Given the description of an element on the screen output the (x, y) to click on. 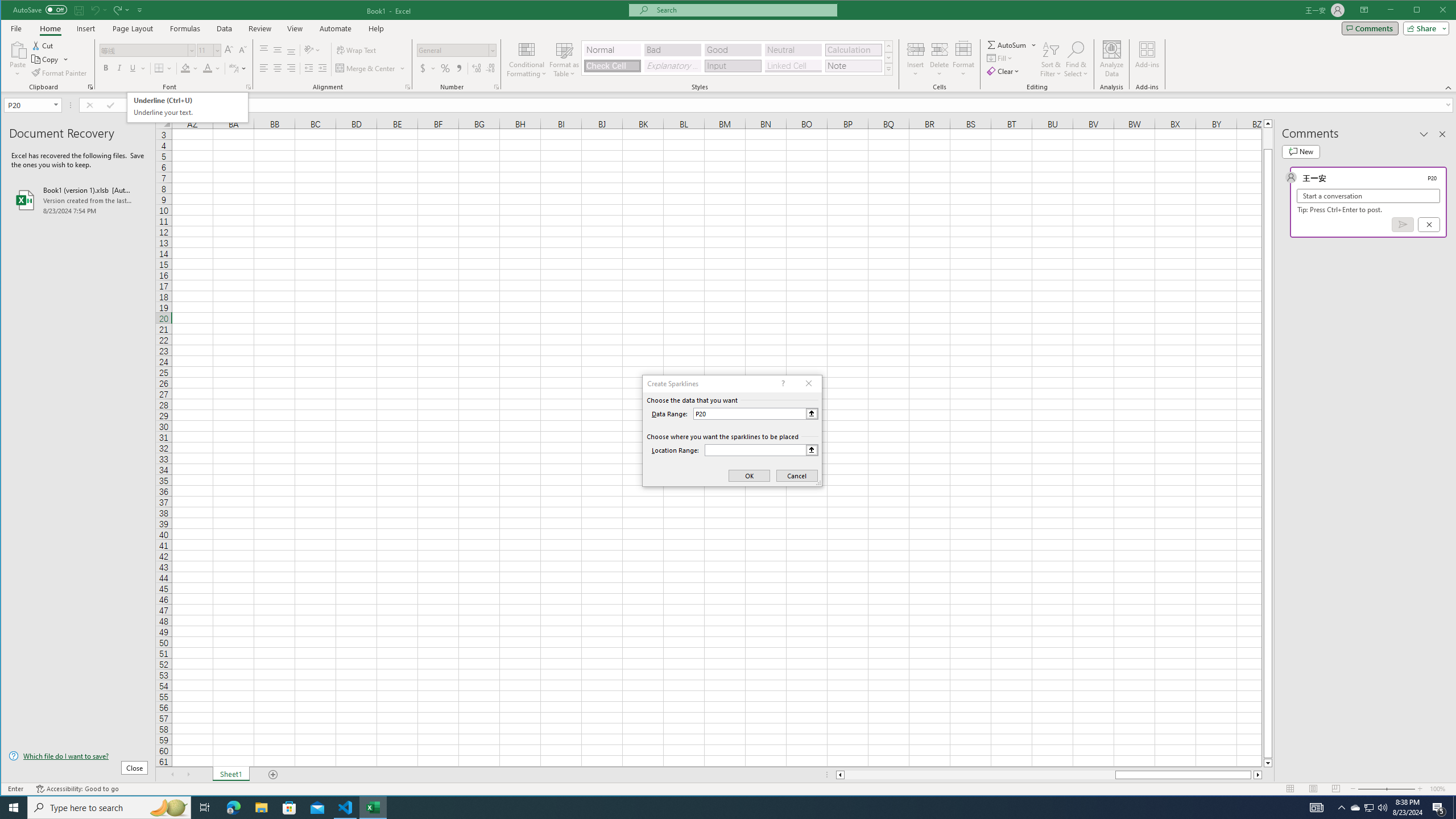
Merge & Center (370, 68)
Explanatory Text (672, 65)
Orientation (312, 49)
Sort & Filter (1050, 59)
Accounting Number Format (422, 68)
AutomationID: CellStylesGallery (736, 57)
Wrap Text (356, 49)
Input (732, 65)
Number Format (456, 49)
